Given the description of an element on the screen output the (x, y) to click on. 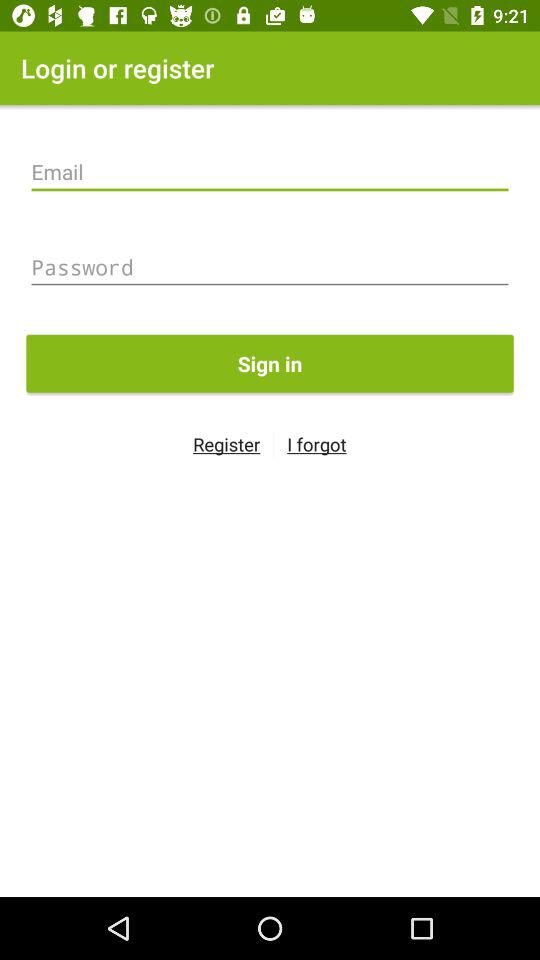
launch the sign in icon (269, 363)
